Given the description of an element on the screen output the (x, y) to click on. 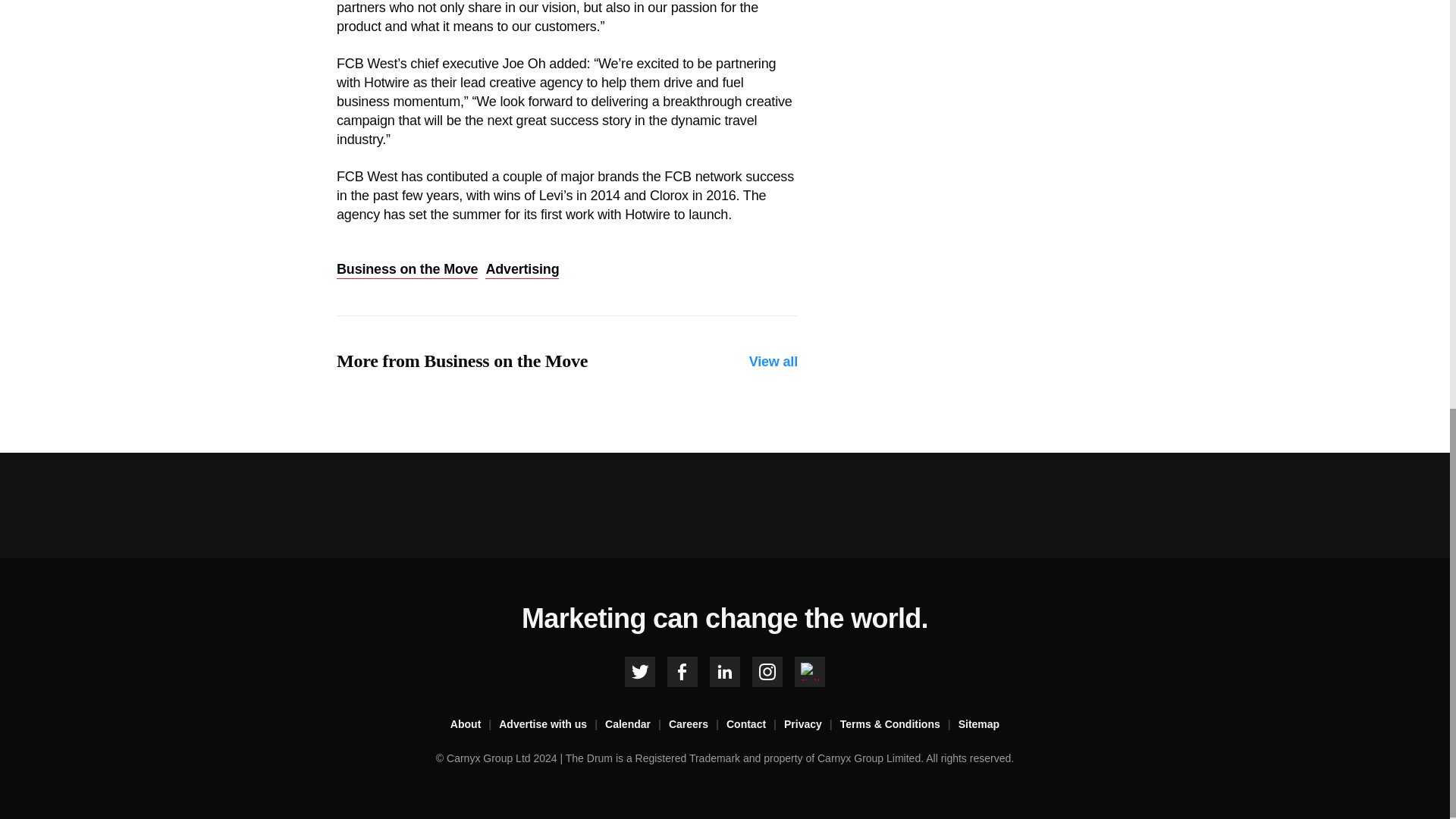
Contact (755, 724)
Advertise with us (552, 724)
Business on the Move (406, 270)
Advertising (521, 270)
Careers (697, 724)
Calendar (636, 724)
View all (773, 361)
About (474, 724)
Privacy (812, 724)
